Given the description of an element on the screen output the (x, y) to click on. 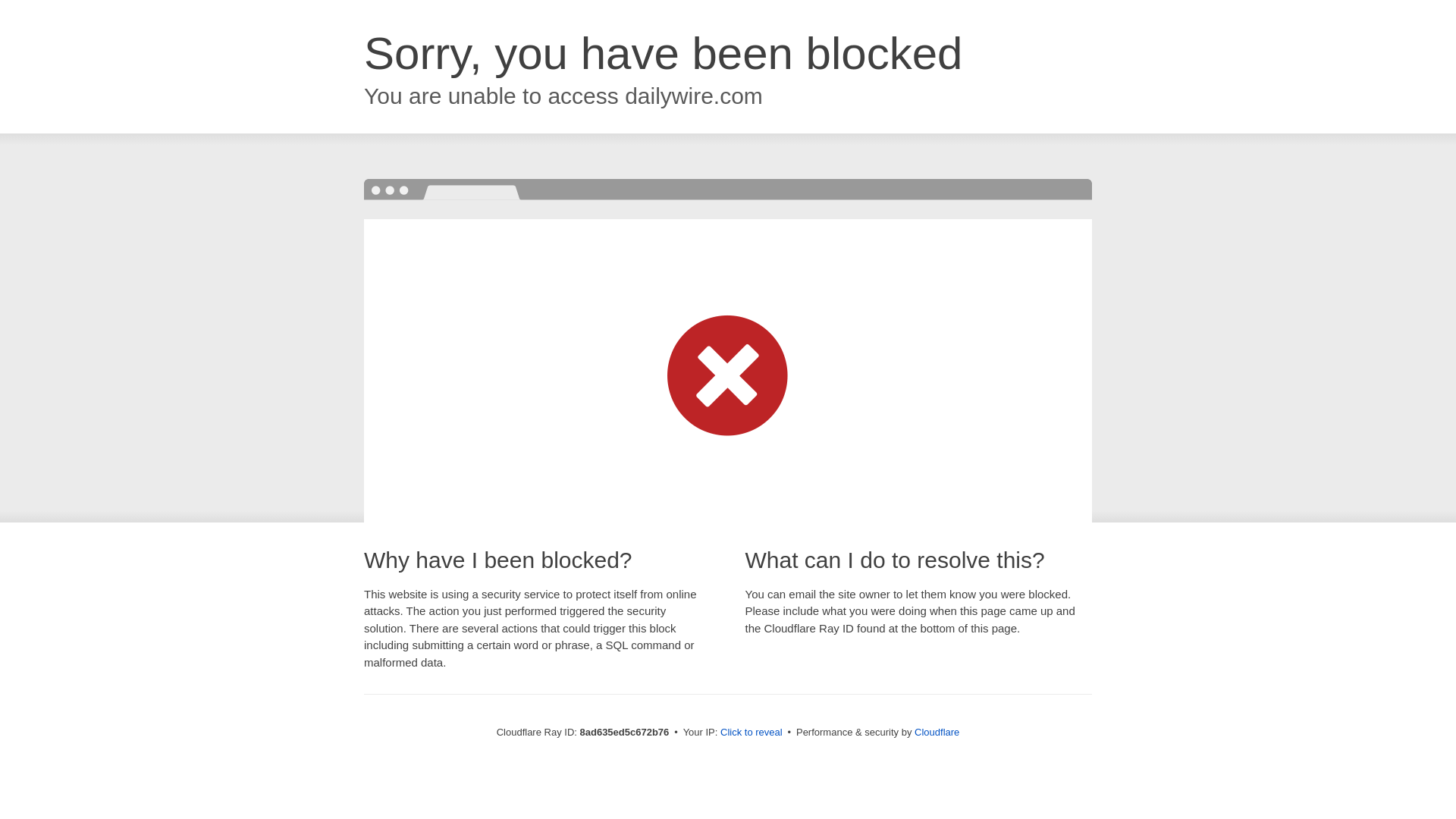
Cloudflare (936, 731)
Click to reveal (751, 732)
